Given the description of an element on the screen output the (x, y) to click on. 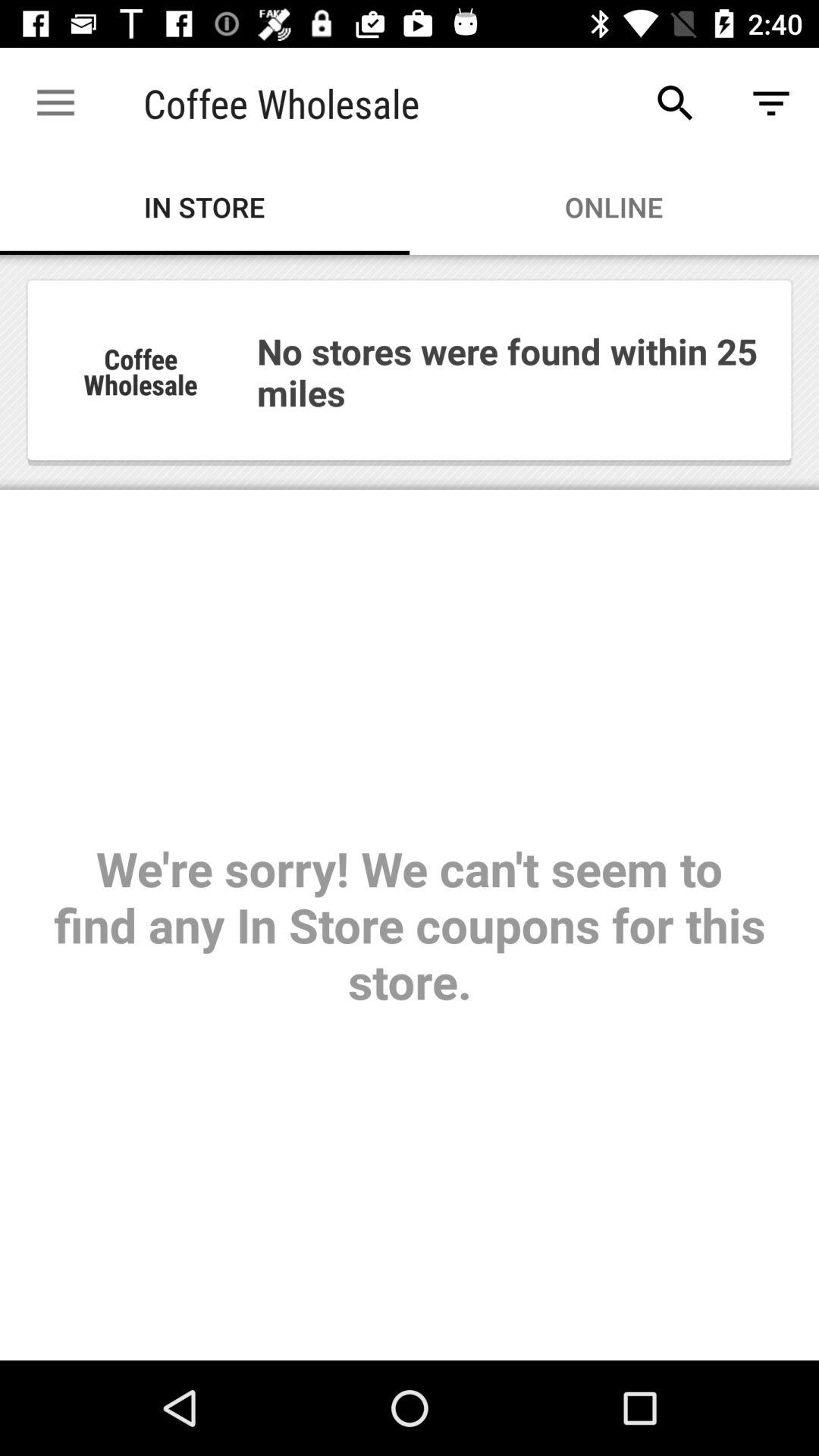
launch item to the right of coffee wholesale app (675, 103)
